Given the description of an element on the screen output the (x, y) to click on. 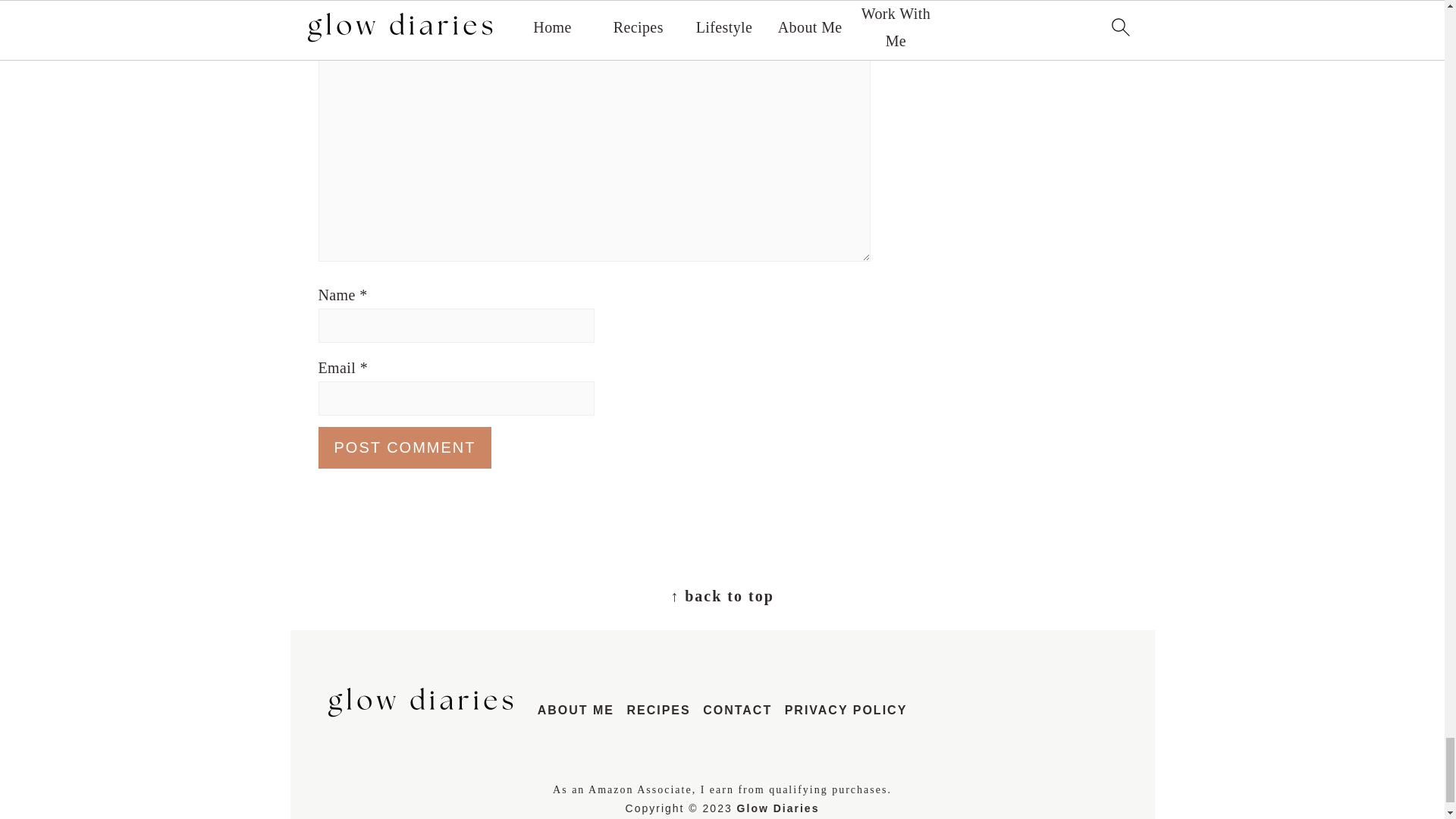
Post Comment (405, 447)
